Given the description of an element on the screen output the (x, y) to click on. 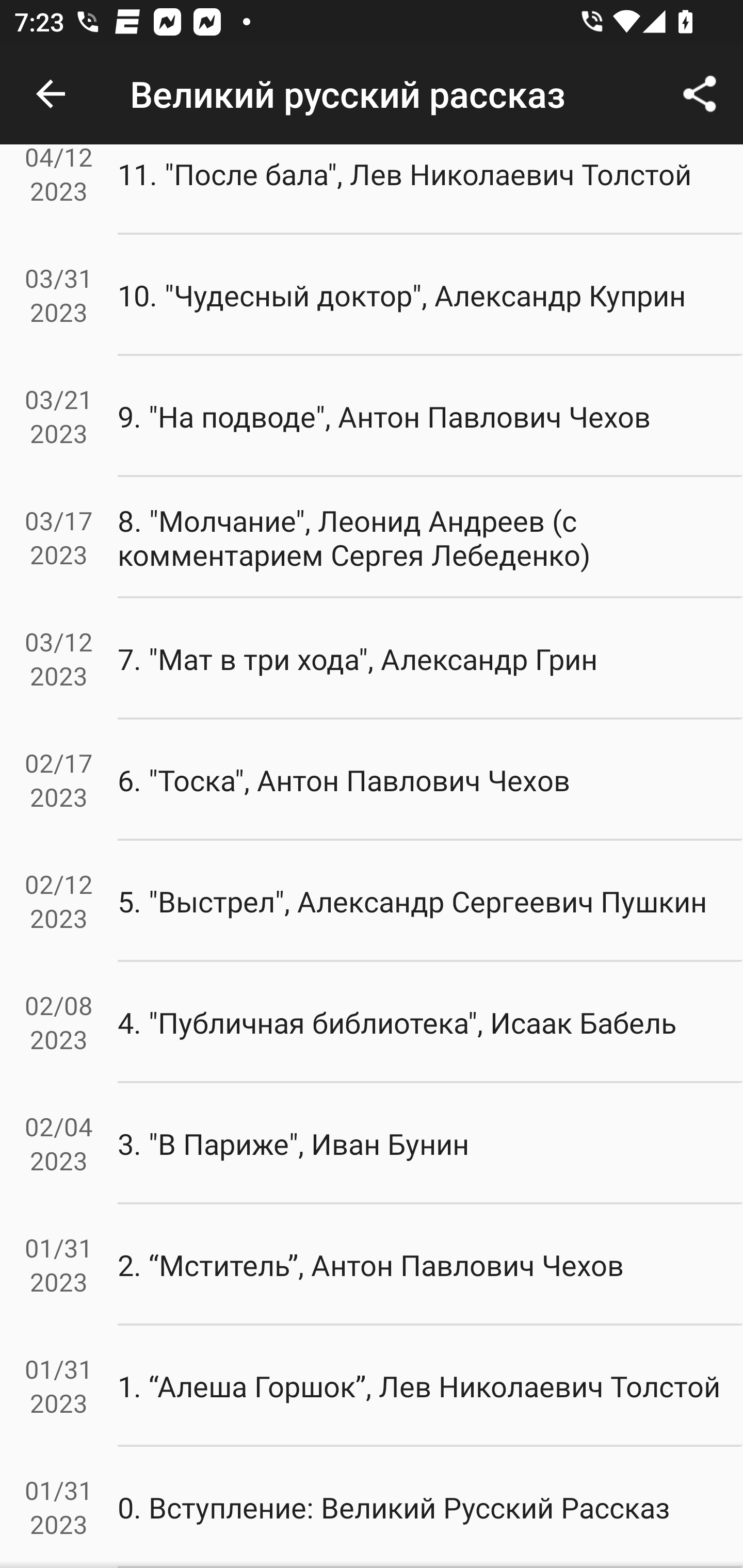
04/21 2023 12. "Соль", Исаак Бабель (371, 77)
Navigate up (50, 93)
Share... (699, 93)
03/31 2023 10. "Чудесный доктор", Александр Куприн (371, 295)
03/21 2023 9. "На подводе", Антон Павлович Чехов (371, 415)
03/12 2023 7. "Мат в три хода", Александр Грин (371, 658)
02/17 2023 6. "Тоска", Антон Павлович Чехов (371, 779)
02/08 2023 4. "Публичная библиотека", Исаак Бабель (371, 1022)
02/04 2023 3. "В Париже", Иван Бунин (371, 1143)
01/31 2023 2. “Мститель”, Антон Павлович Чехов (371, 1264)
01/31 2023 0. Вступление: Великий Русский Рассказ (371, 1507)
